Given the description of an element on the screen output the (x, y) to click on. 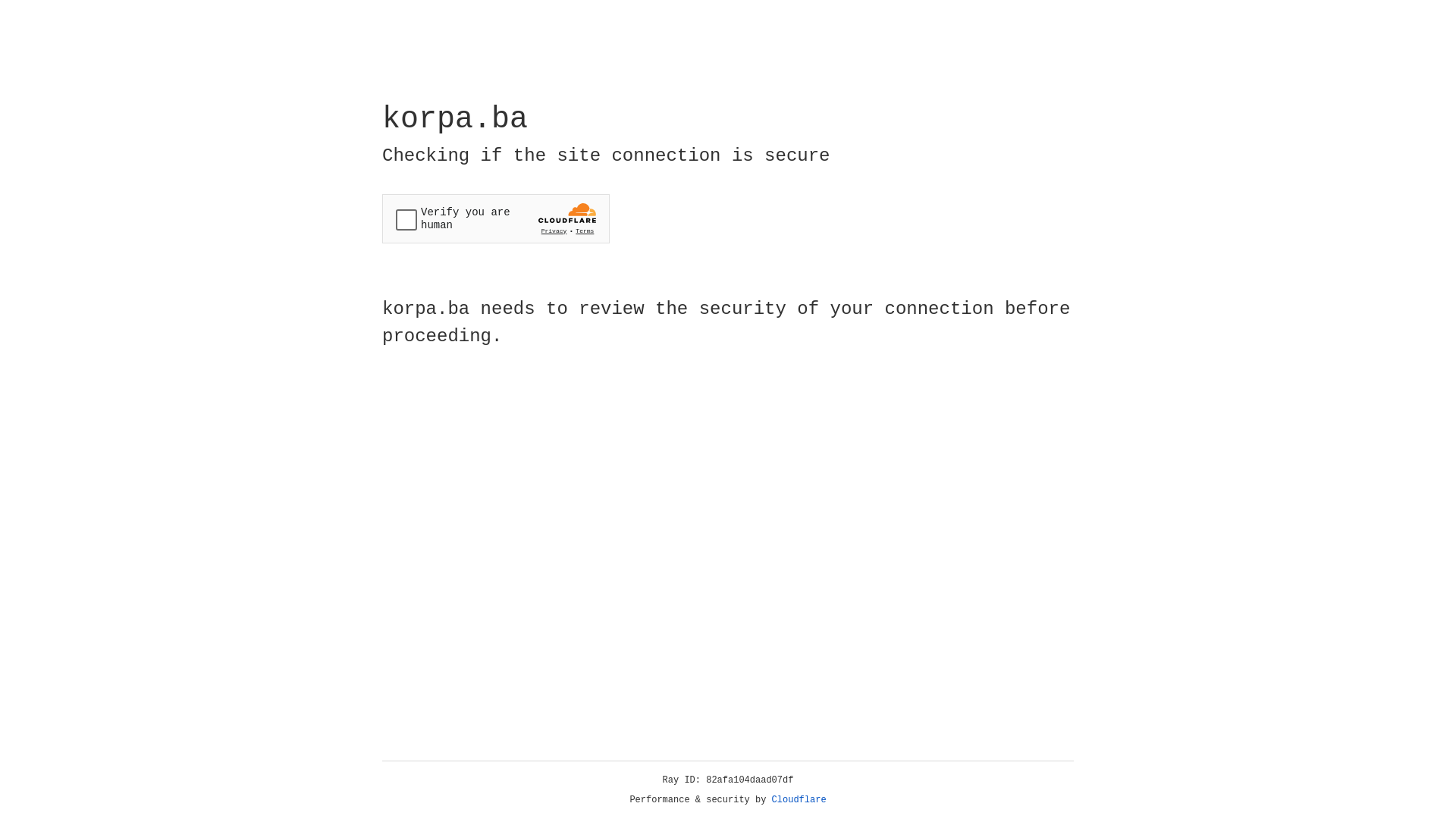
Cloudflare Element type: text (798, 799)
Widget containing a Cloudflare security challenge Element type: hover (495, 218)
